Given the description of an element on the screen output the (x, y) to click on. 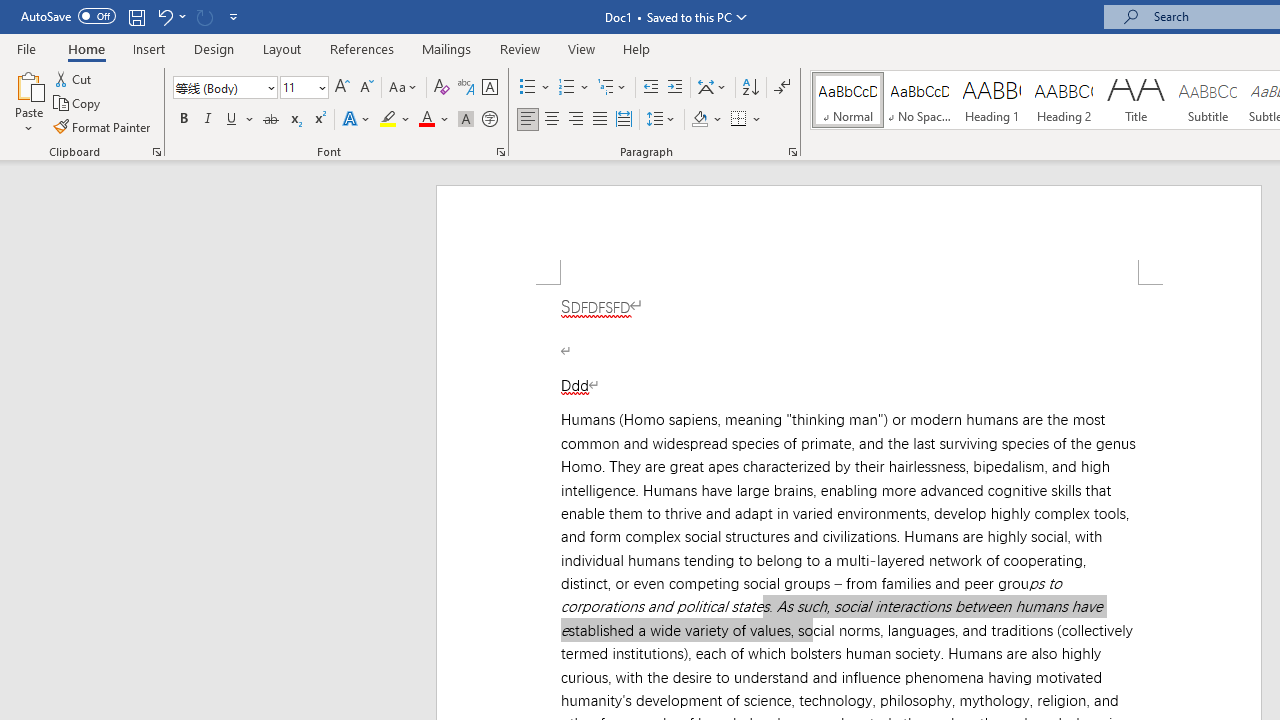
Bullets (535, 87)
Borders (739, 119)
Undo Apply Quick Style Set (164, 15)
Bullets (527, 87)
Enclose Characters... (489, 119)
System (10, 11)
Center (552, 119)
Asian Layout (712, 87)
View (582, 48)
References (362, 48)
Quick Access Toolbar (131, 16)
Subscript (294, 119)
Text Highlight Color Yellow (388, 119)
Increase Indent (675, 87)
